Given the description of an element on the screen output the (x, y) to click on. 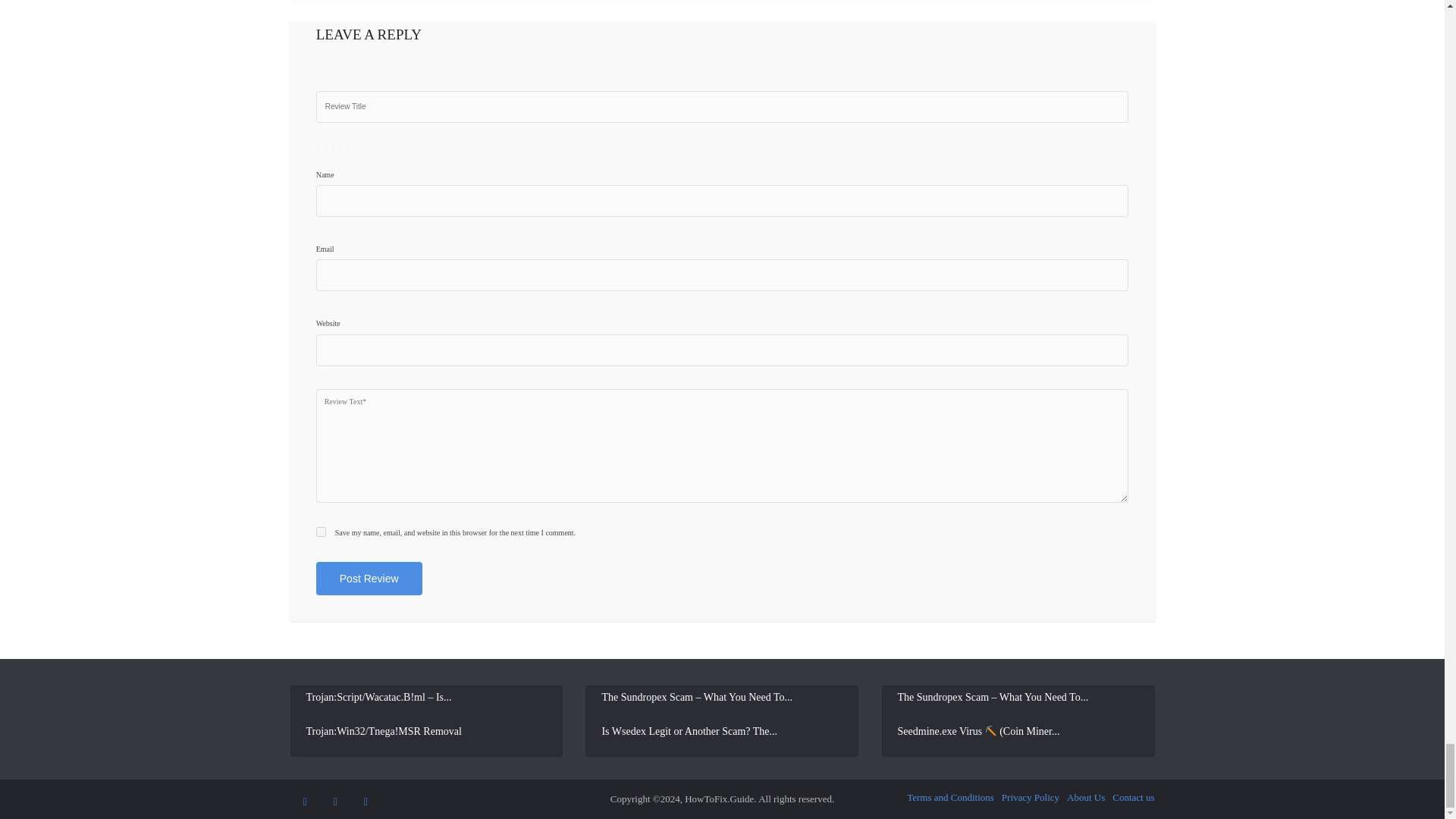
Post Review (368, 578)
yes (320, 532)
